Given the description of an element on the screen output the (x, y) to click on. 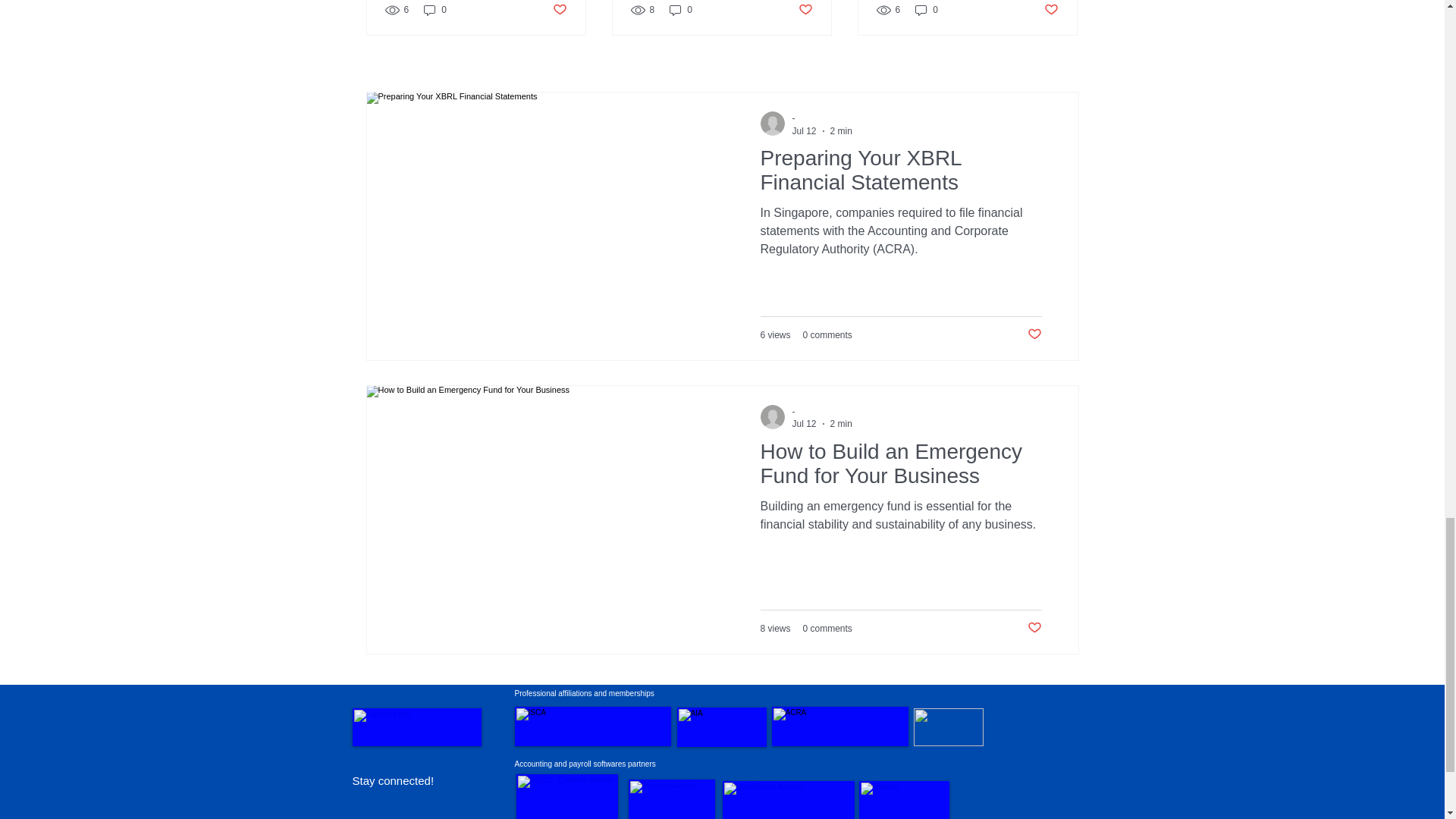
How to Build an Emergency Fund for Your Business (900, 467)
0 comments (827, 335)
Post not marked as liked (558, 9)
Post not marked as liked (1033, 334)
2 min (840, 131)
Jul 12 (803, 423)
Preparing Your XBRL Financial Statements (900, 174)
0 (926, 10)
2 min (840, 423)
Post not marked as liked (804, 9)
